Given the description of an element on the screen output the (x, y) to click on. 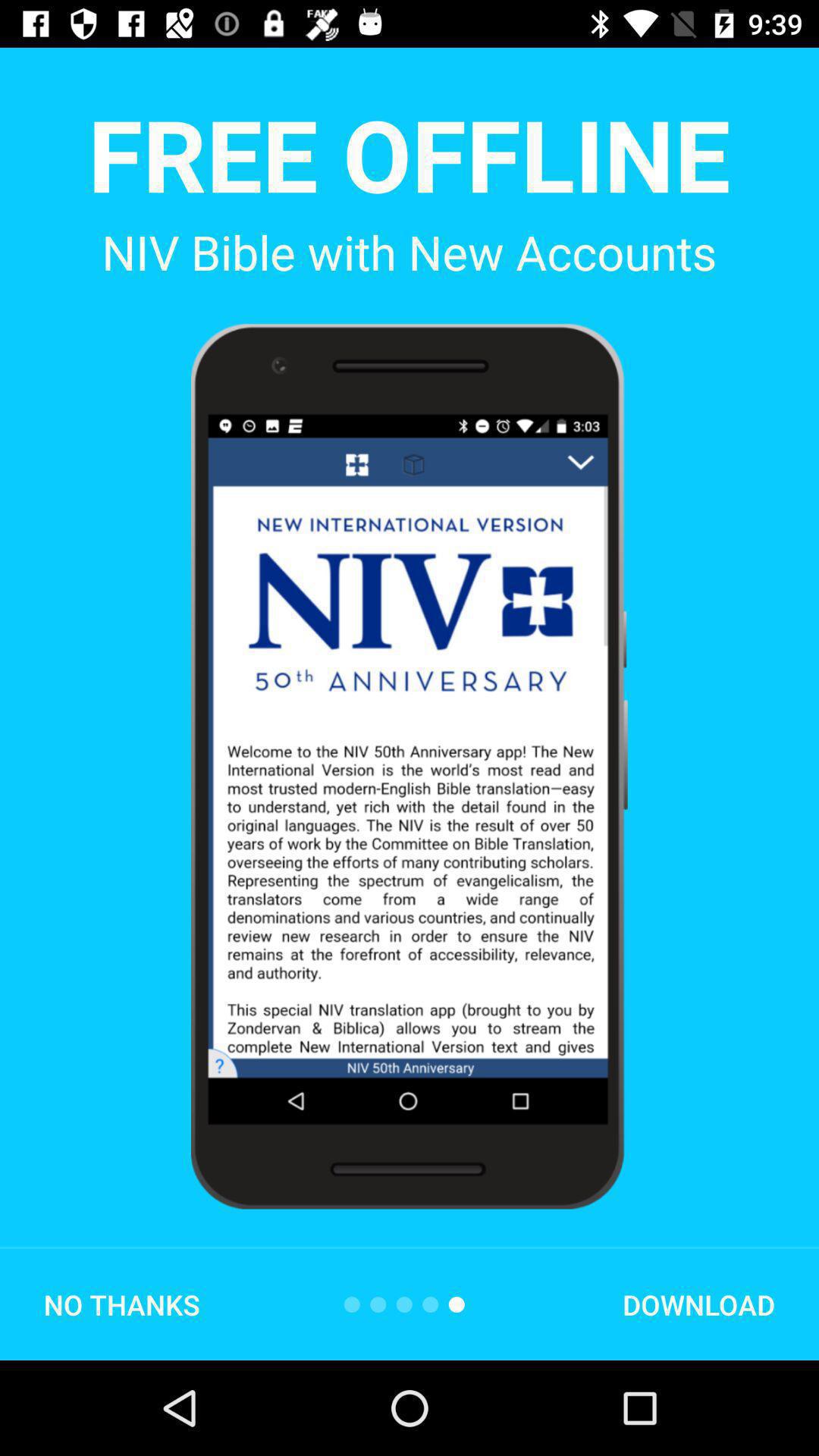
scroll to the download button (698, 1304)
